Given the description of an element on the screen output the (x, y) to click on. 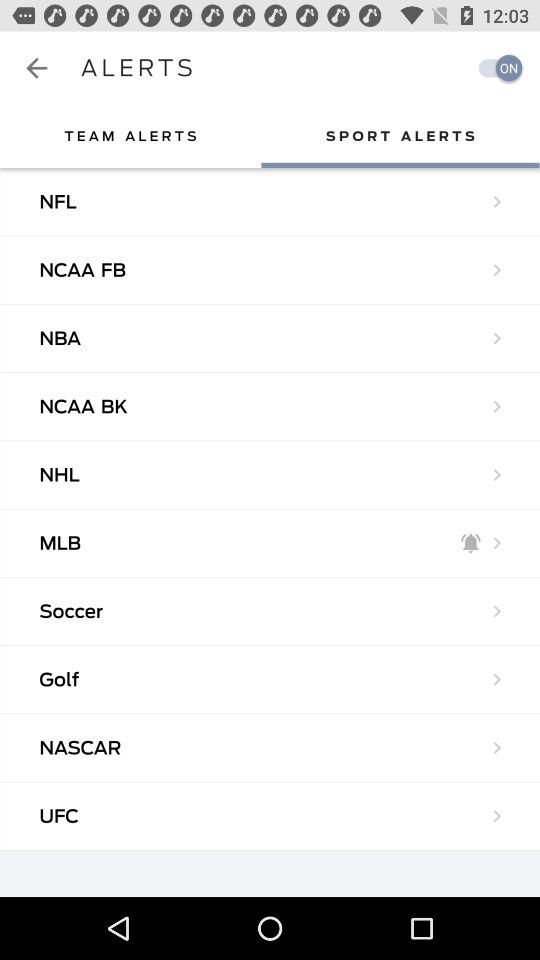
turn on icon next to alerts app (495, 67)
